Given the description of an element on the screen output the (x, y) to click on. 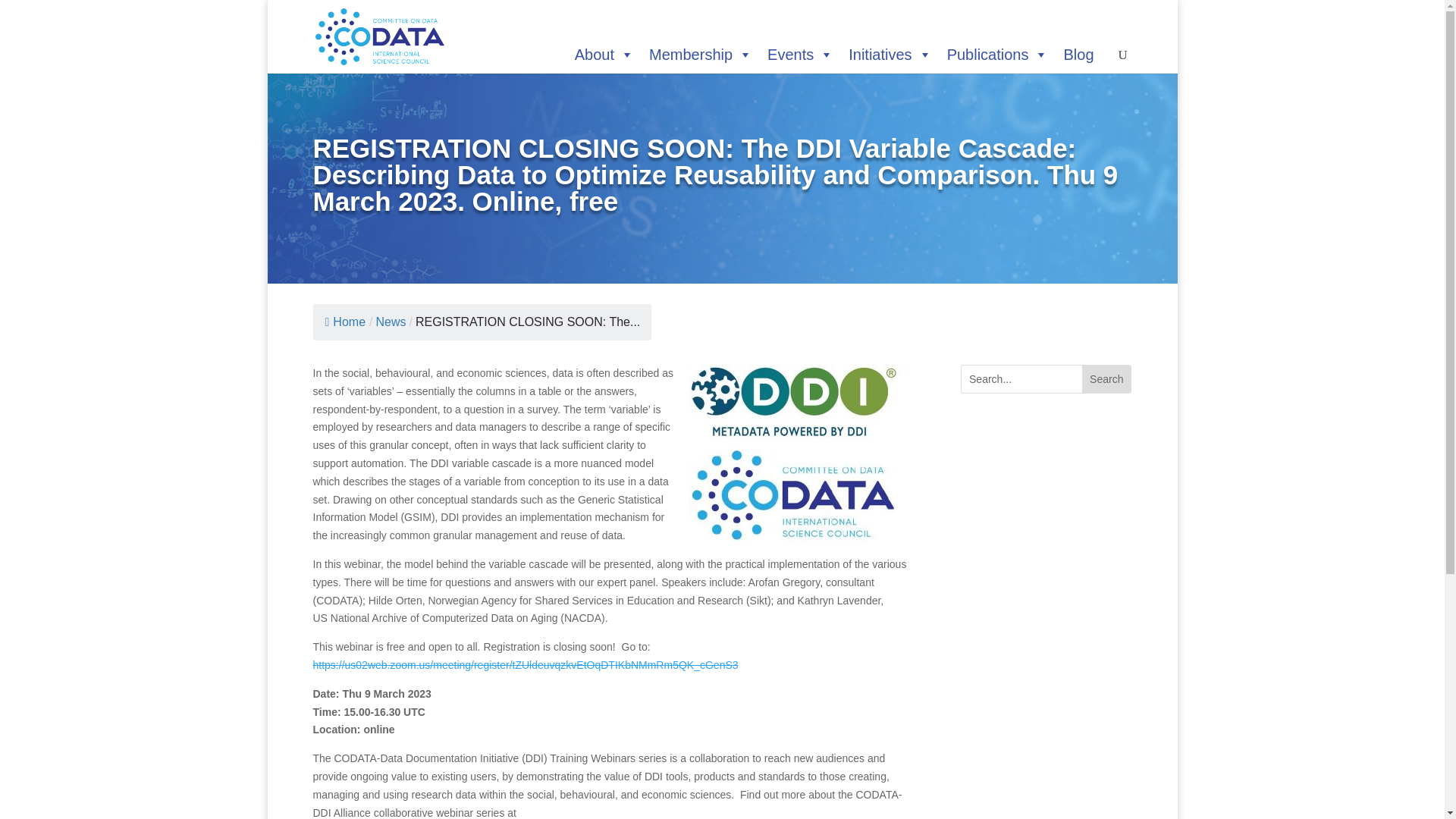
Search (1106, 379)
About (604, 54)
Membership (701, 54)
Search (1106, 379)
Category Name (390, 321)
